Given the description of an element on the screen output the (x, y) to click on. 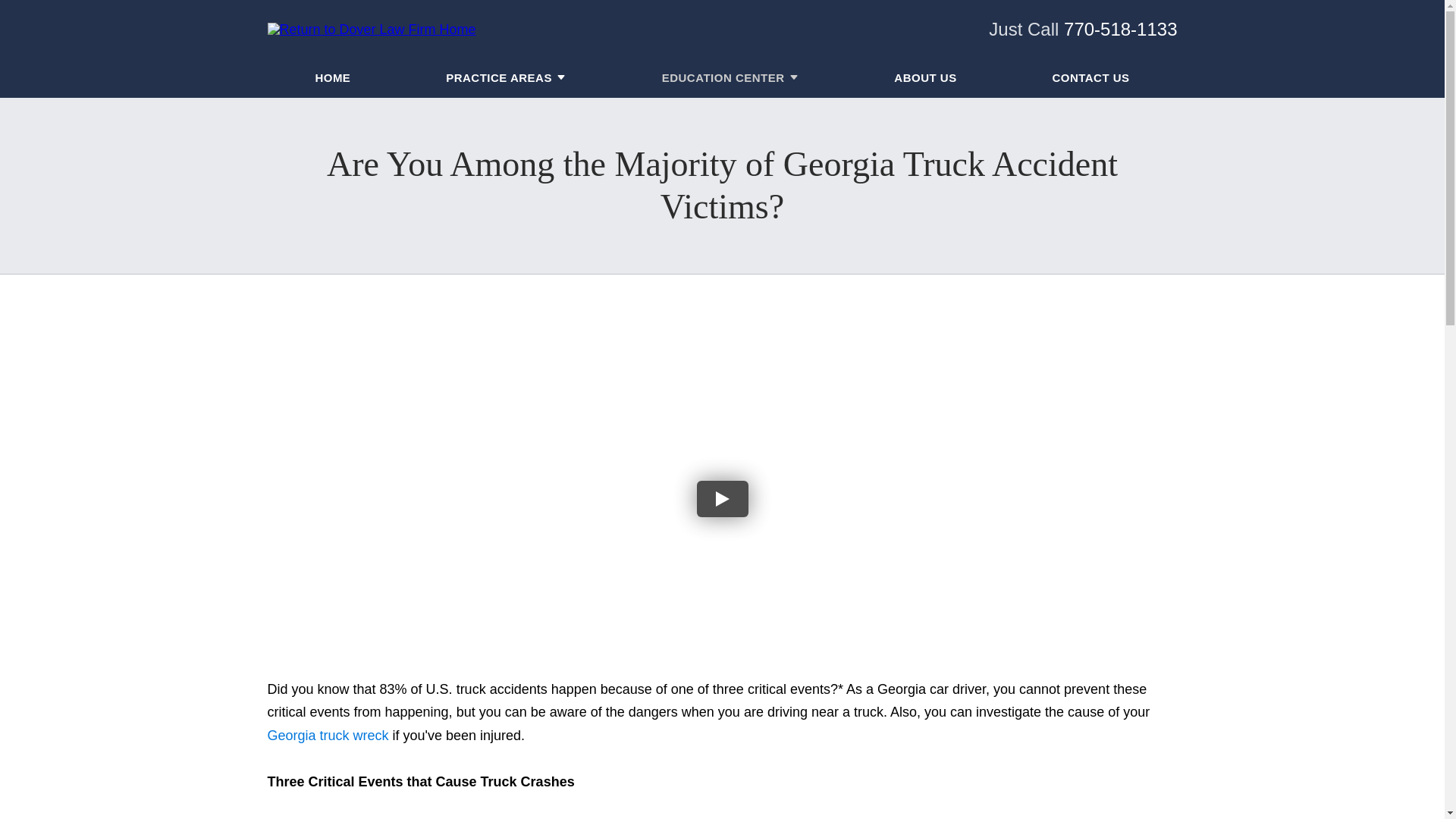
call local (1120, 28)
770-518-1133 (1120, 28)
Georgia truck wreck (327, 735)
ABOUT US (924, 77)
CONTACT US (1090, 77)
HOME (332, 77)
EDUCATION CENTER (723, 77)
PRACTICE AREAS (498, 77)
